Given the description of an element on the screen output the (x, y) to click on. 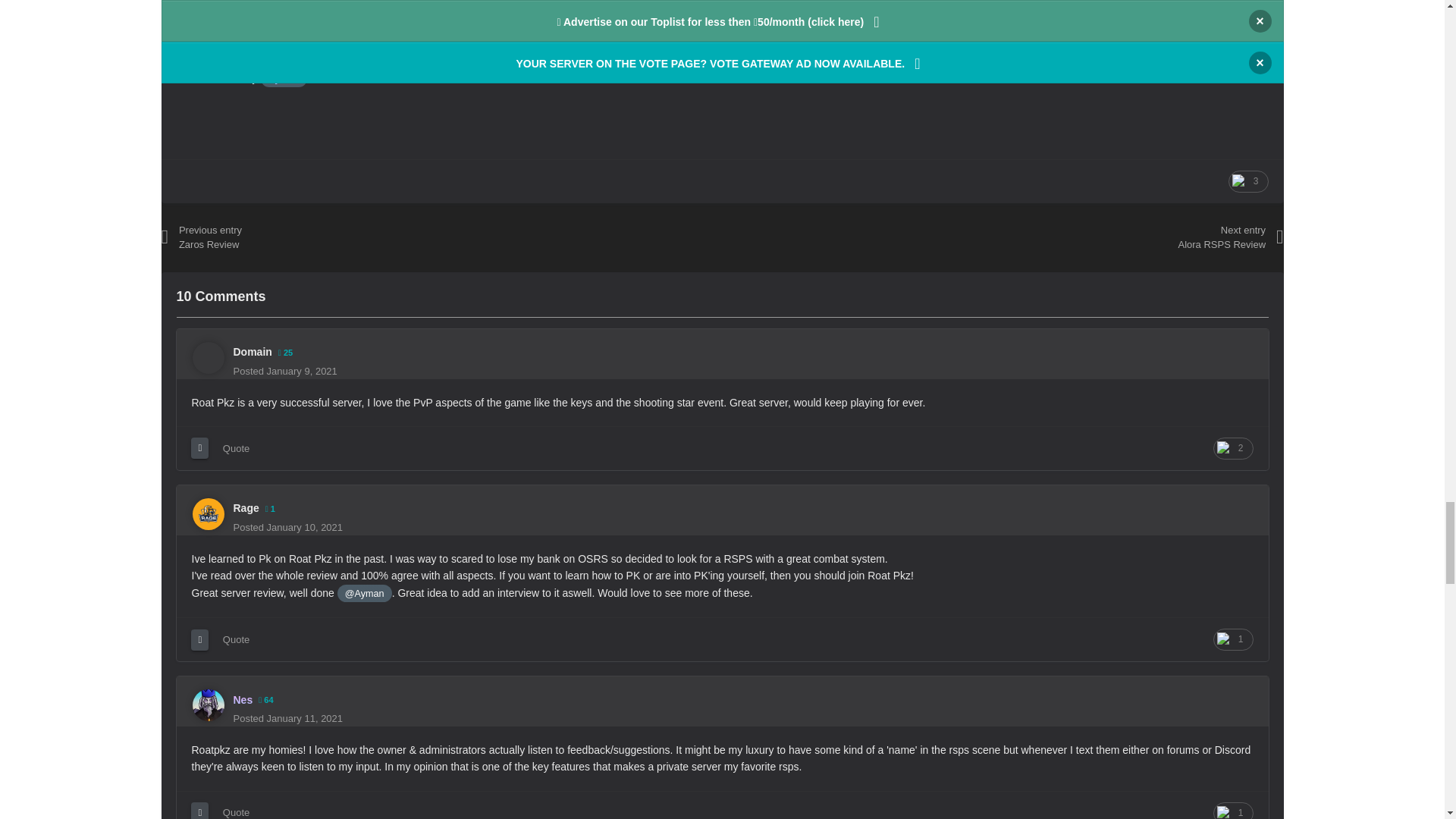
Positive (1248, 181)
